Given the description of an element on the screen output the (x, y) to click on. 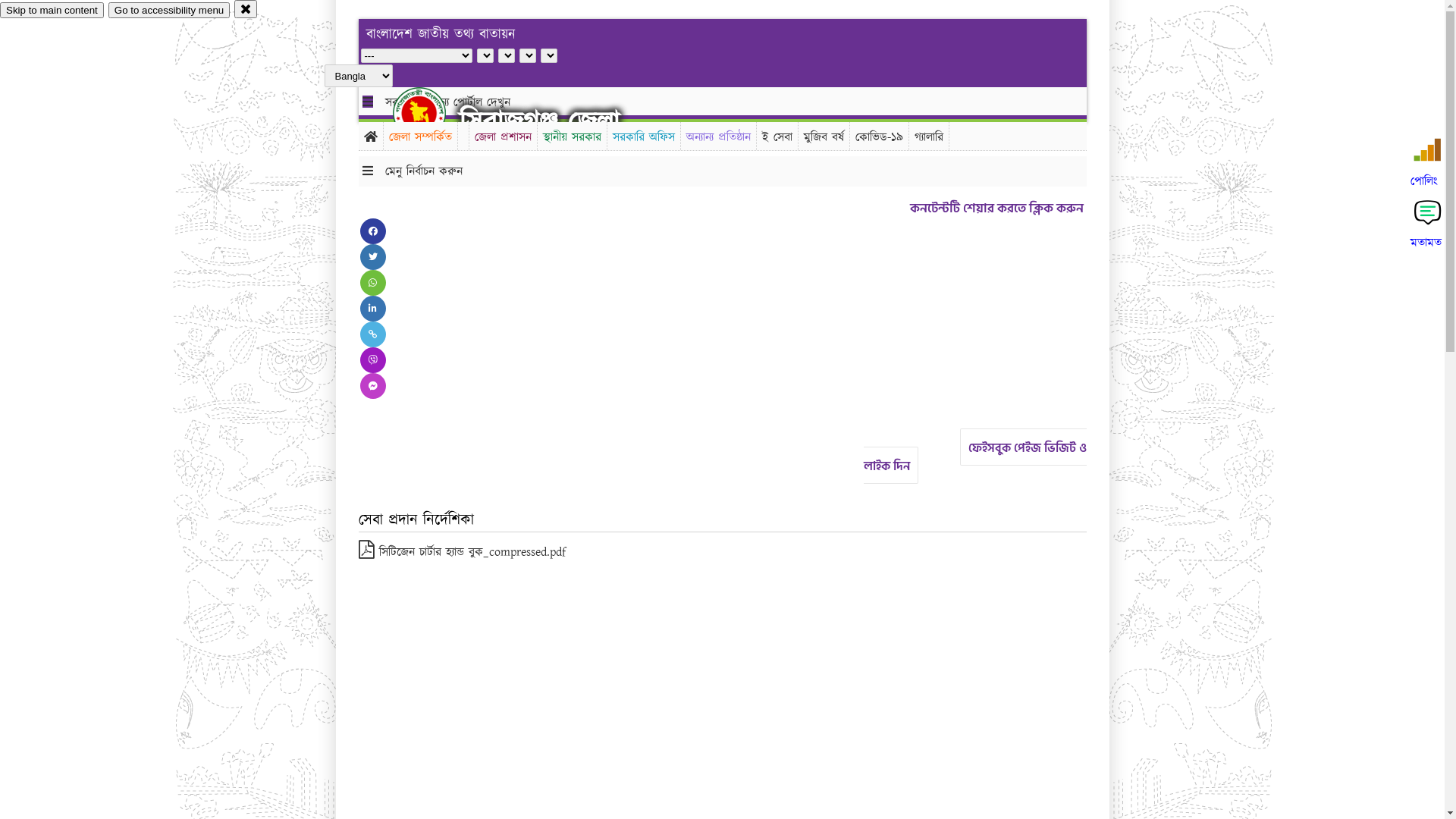
Skip to main content Element type: text (51, 10)
Go to accessibility menu Element type: text (168, 10)
close Element type: hover (245, 9)

                
             Element type: hover (431, 112)
